Given the description of an element on the screen output the (x, y) to click on. 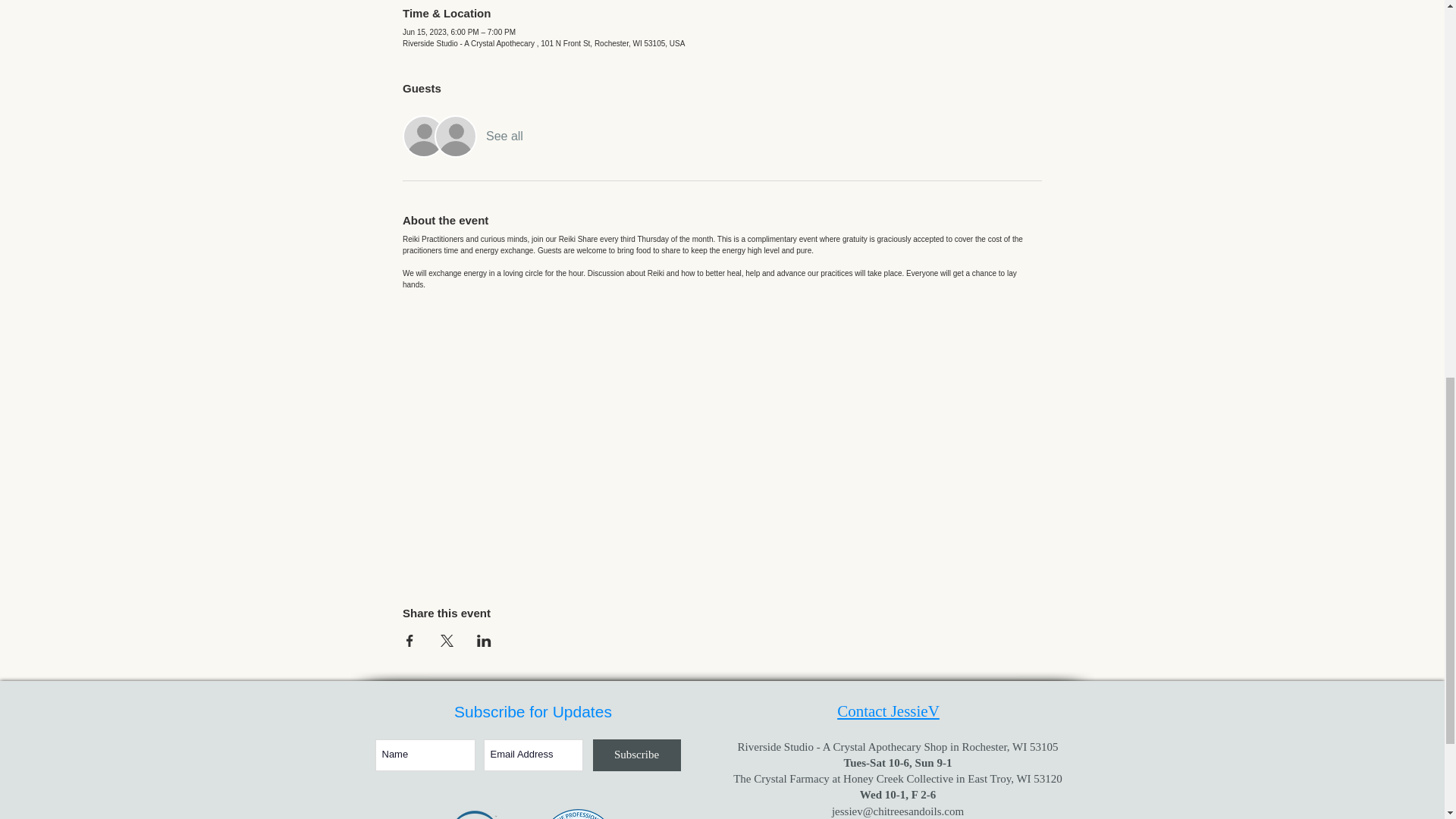
See all (504, 135)
Contact JessieV (888, 710)
Subscribe (636, 755)
